Given the description of an element on the screen output the (x, y) to click on. 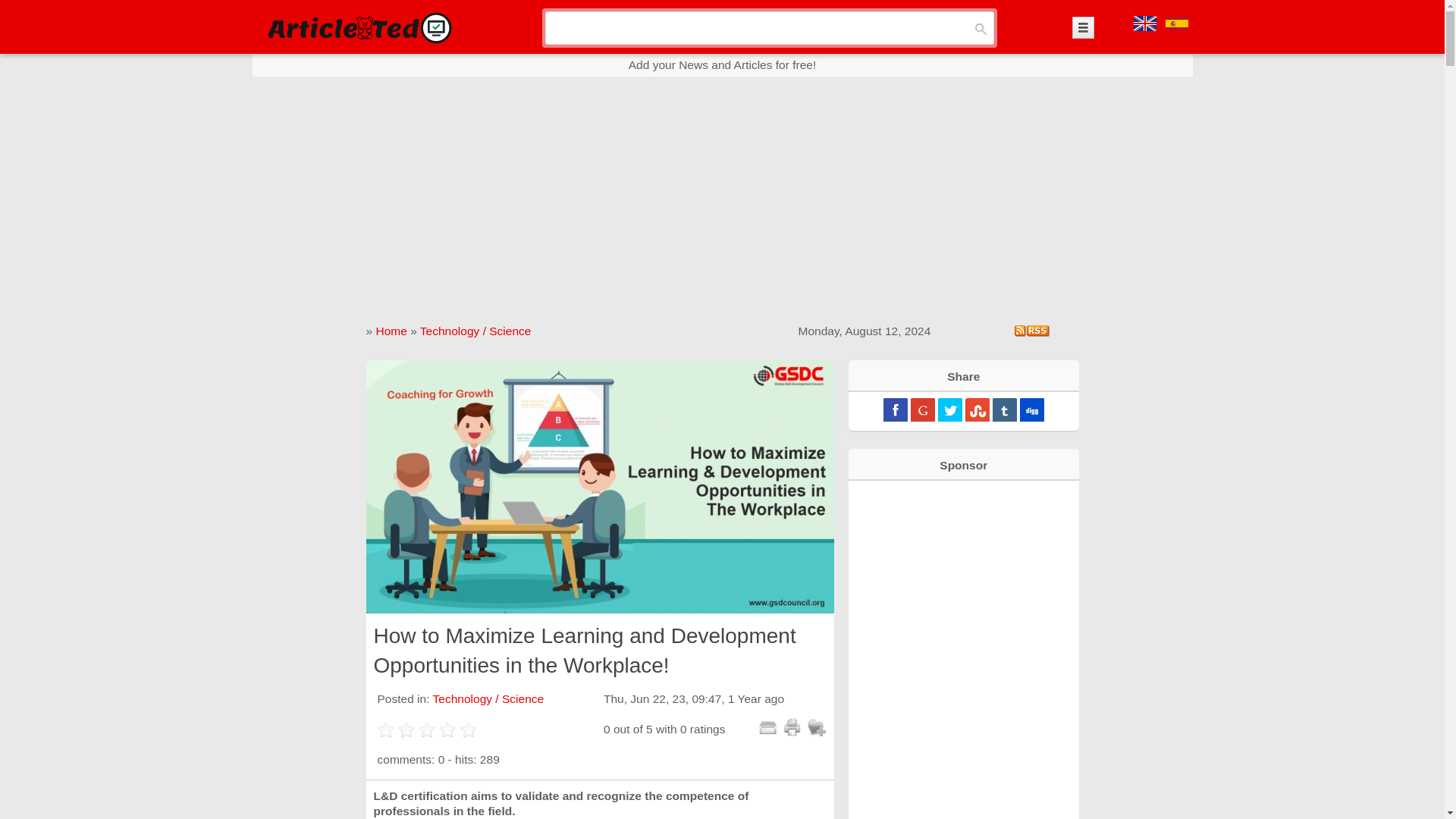
Home (390, 330)
ArticleTed -  News and Articles (357, 27)
